Given the description of an element on the screen output the (x, y) to click on. 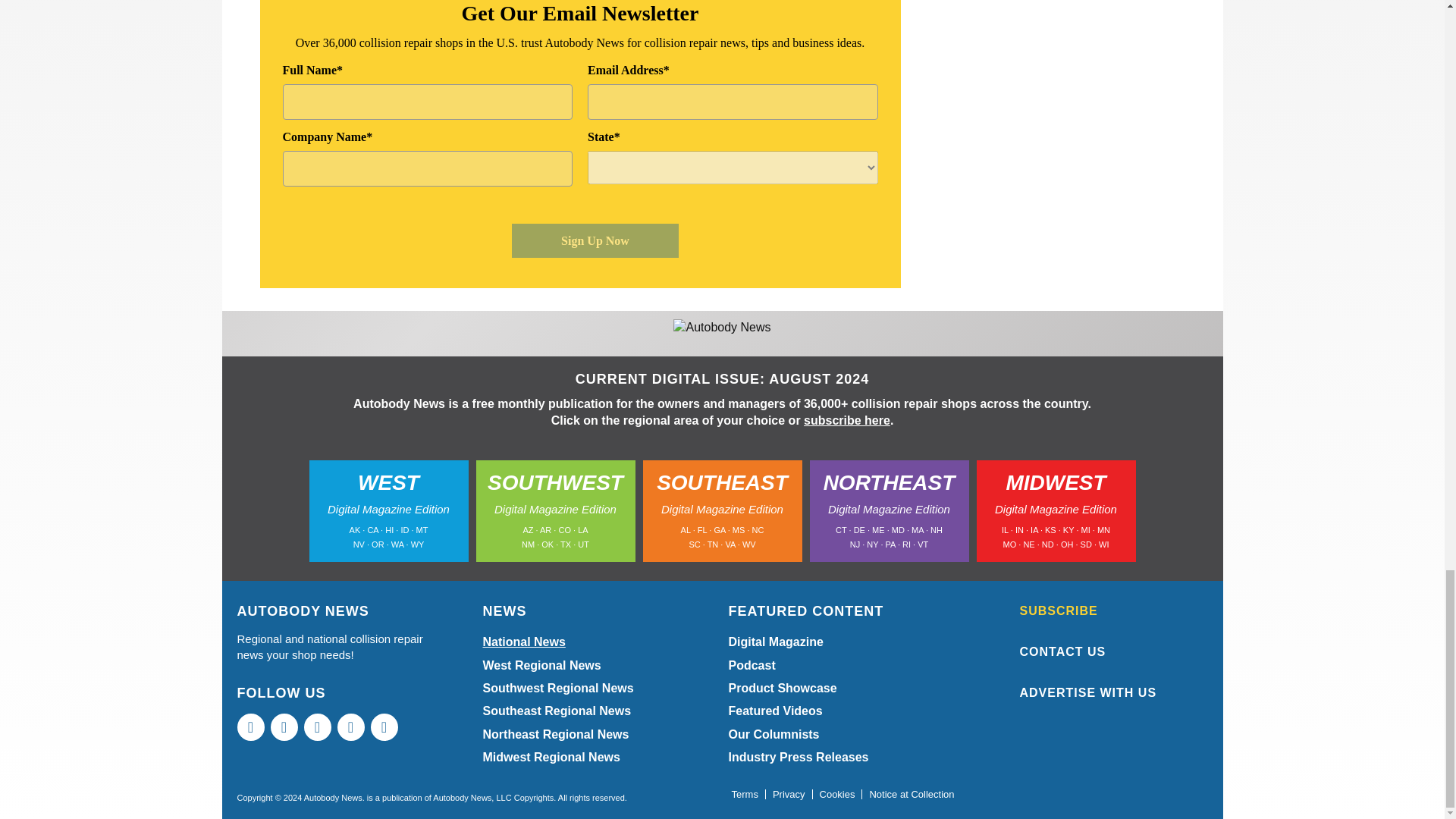
Auto Body News Privacy Policy (789, 794)
Auto Body News Cookie Policy (837, 794)
Auto Body News Notice at Collection Policy (911, 794)
